Given the description of an element on the screen output the (x, y) to click on. 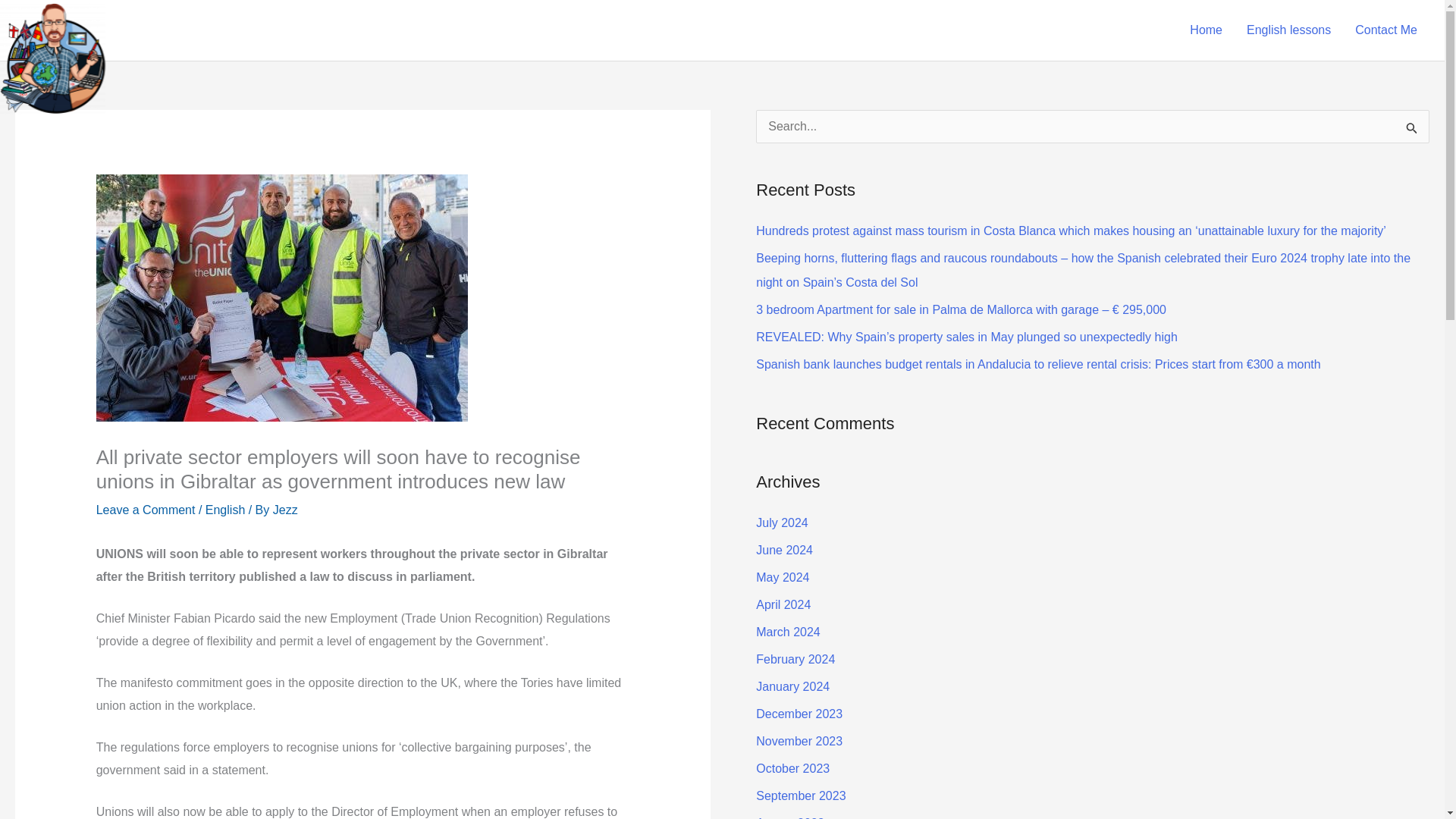
July 2024 (781, 522)
January 2024 (792, 686)
English lessons (1288, 30)
May 2024 (782, 576)
February 2024 (794, 658)
Contact Me (1385, 30)
August 2023 (789, 817)
June 2024 (783, 549)
December 2023 (799, 713)
Jezz (285, 509)
